Given the description of an element on the screen output the (x, y) to click on. 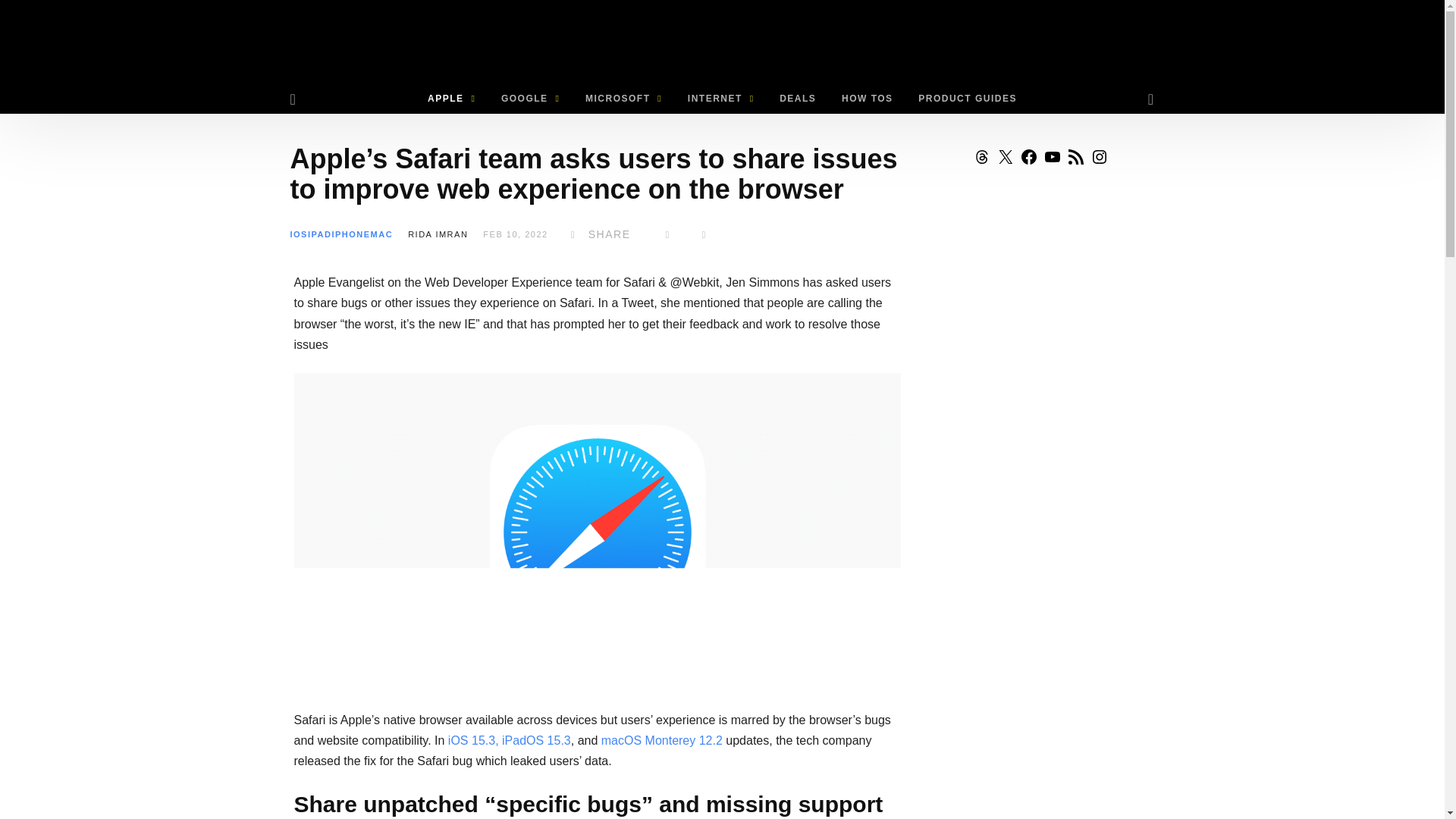
HOW TOS (866, 98)
DEALS (797, 98)
Posts by Rida Imran (437, 234)
More (703, 234)
IOS (298, 234)
INTERNET (721, 98)
PRODUCT GUIDES (967, 98)
View all posts in iPad (319, 234)
SHARE (597, 234)
GOOGLE (529, 98)
